Given the description of an element on the screen output the (x, y) to click on. 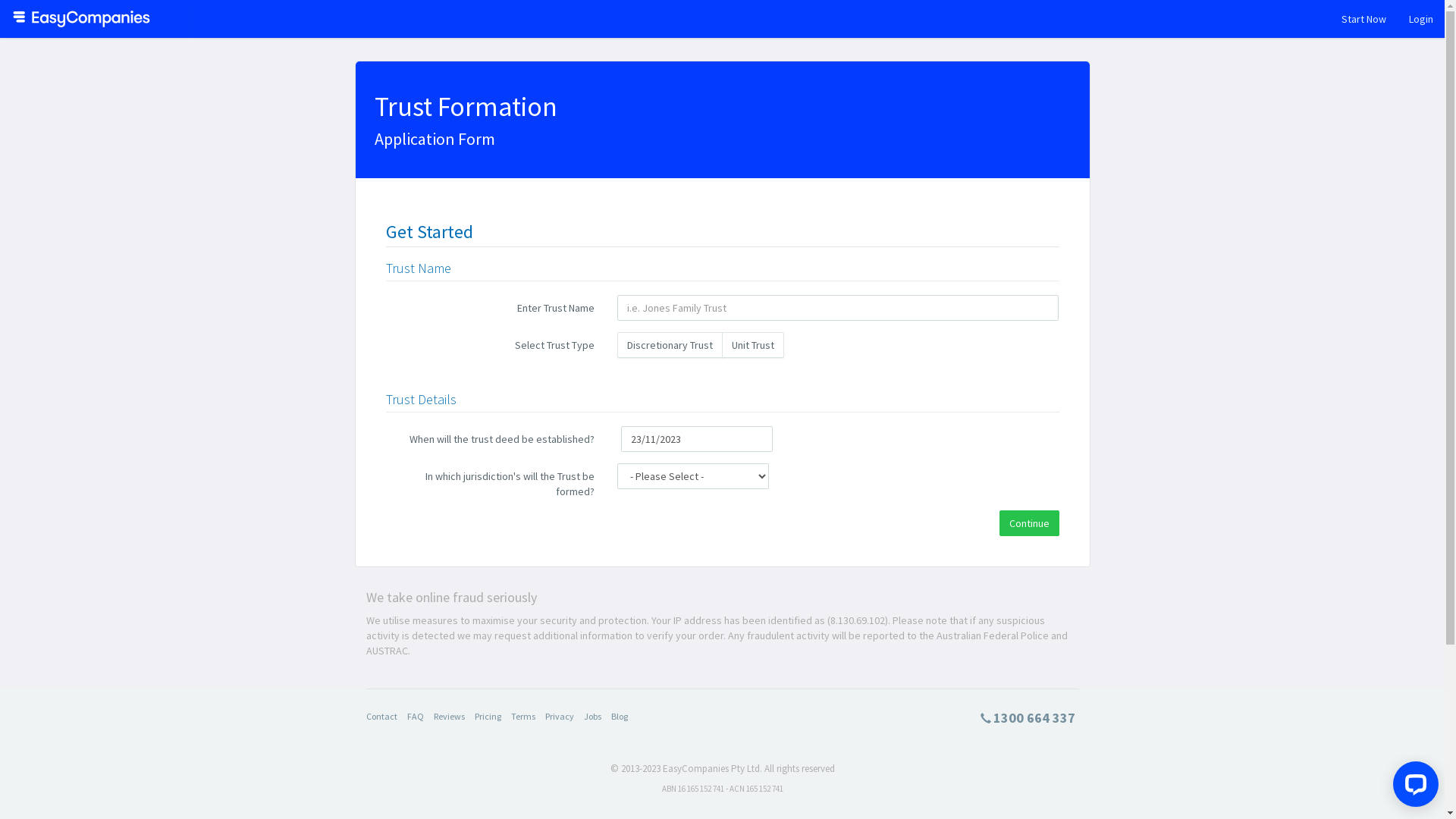
Terms Element type: text (523, 715)
Pricing Element type: text (487, 715)
Contact Element type: text (380, 715)
Start Now Element type: text (1363, 18)
Privacy Element type: text (558, 715)
Jobs Element type: text (592, 715)
FAQ Element type: text (414, 715)
Blog Element type: text (619, 715)
Reviews Element type: text (448, 715)
EasyCompanies Element type: text (79, 18)
Continue Element type: text (1029, 523)
Login Element type: text (1420, 18)
